Given the description of an element on the screen output the (x, y) to click on. 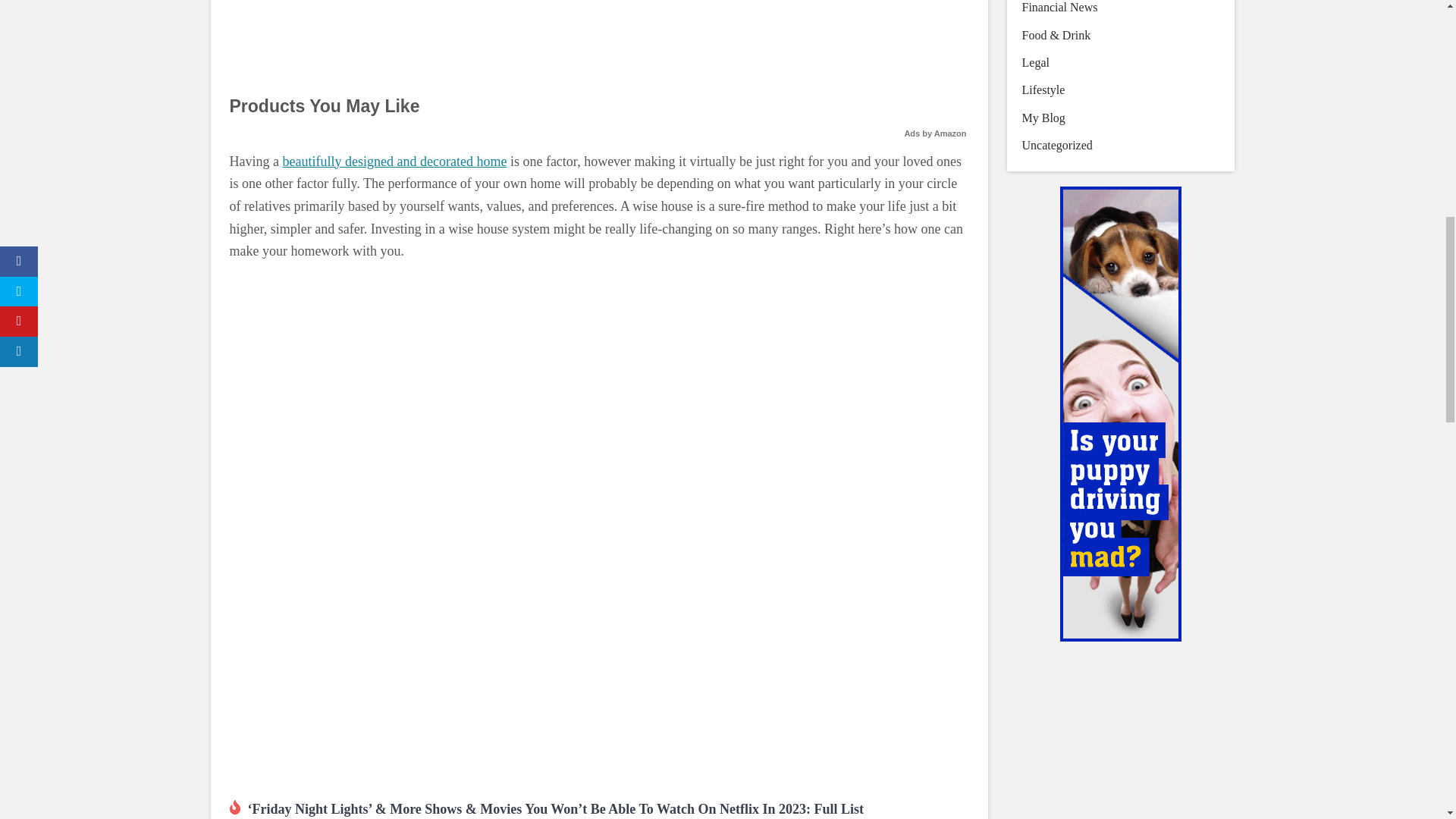
beautifully designed and decorated home (394, 160)
Ads by Amazon (935, 133)
